Given the description of an element on the screen output the (x, y) to click on. 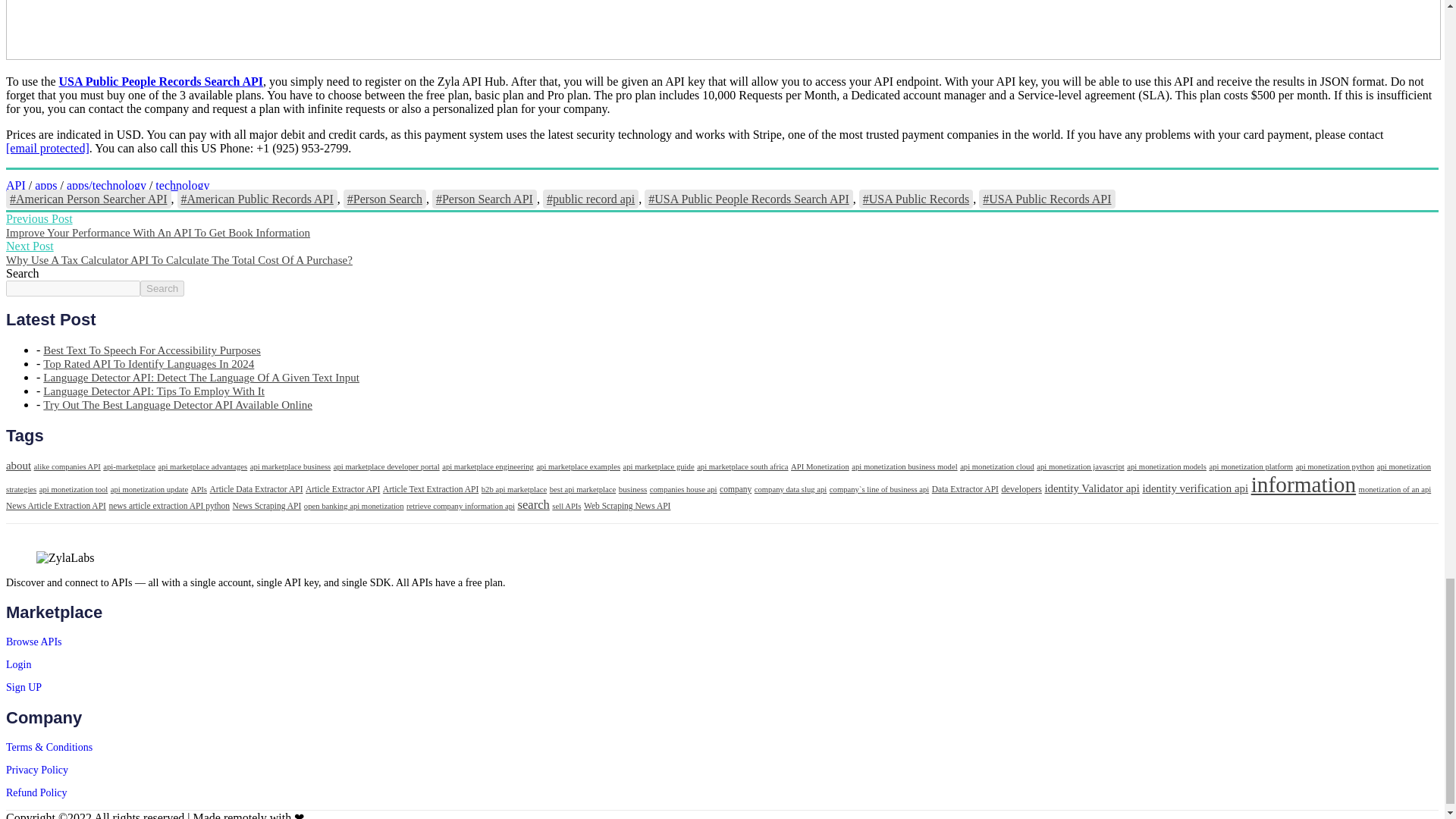
Next Post (29, 245)
Previous Post (38, 218)
Best Text To Speech For Accessibility Purposes (151, 349)
Top Rated API To Identify Languages In 2024 (148, 363)
API (15, 185)
USA Public People Records Search API (161, 81)
apps (45, 185)
Improve Your Performance With An API To Get Book Information (157, 232)
technology (182, 185)
Search (161, 288)
